Given the description of an element on the screen output the (x, y) to click on. 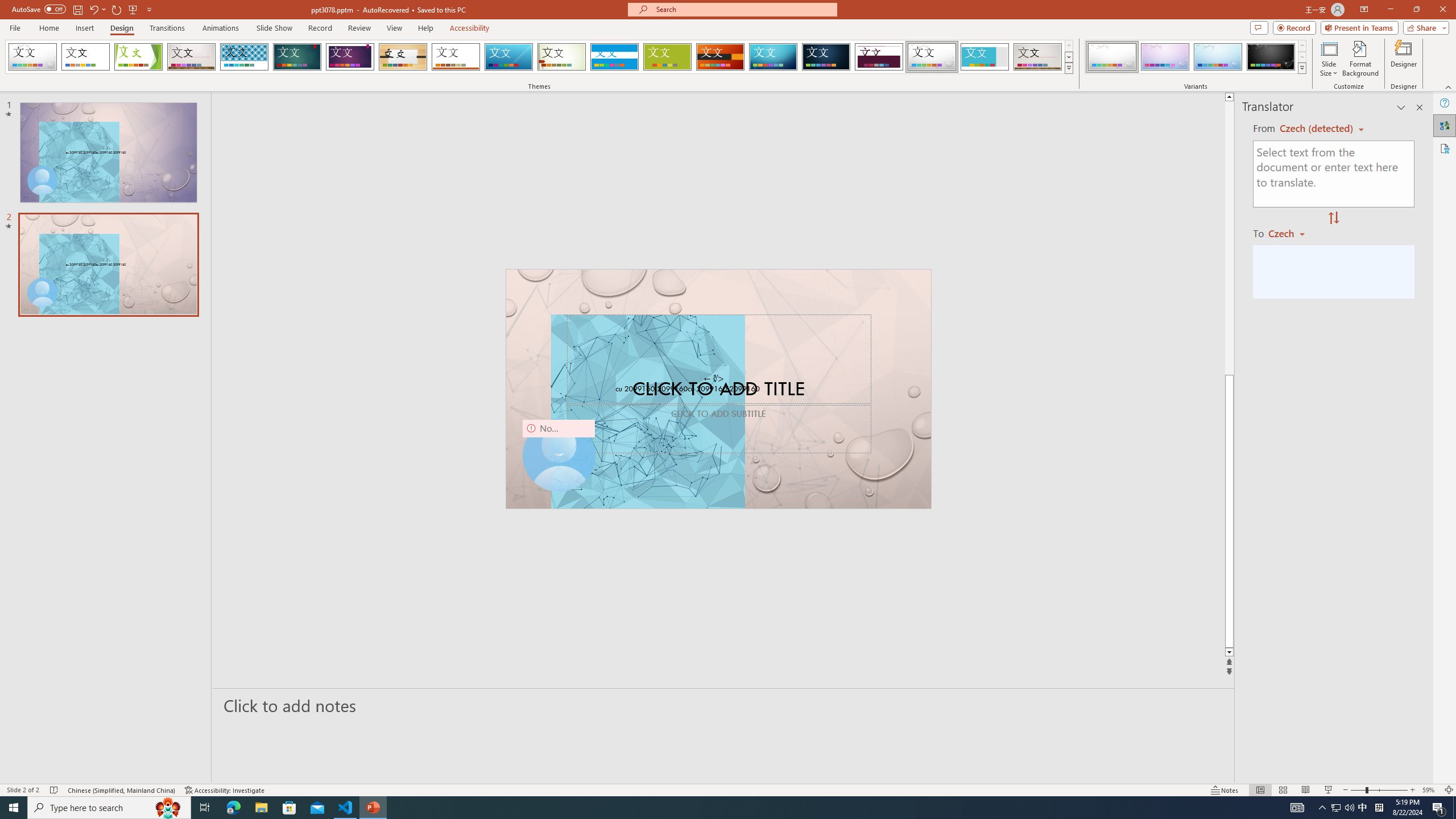
An abstract genetic concept (718, 388)
Droplet Variant 2 (1164, 56)
AutomationID: SlideThemesGallery (539, 56)
Slide Size (1328, 58)
Variants (1301, 67)
